Given the description of an element on the screen output the (x, y) to click on. 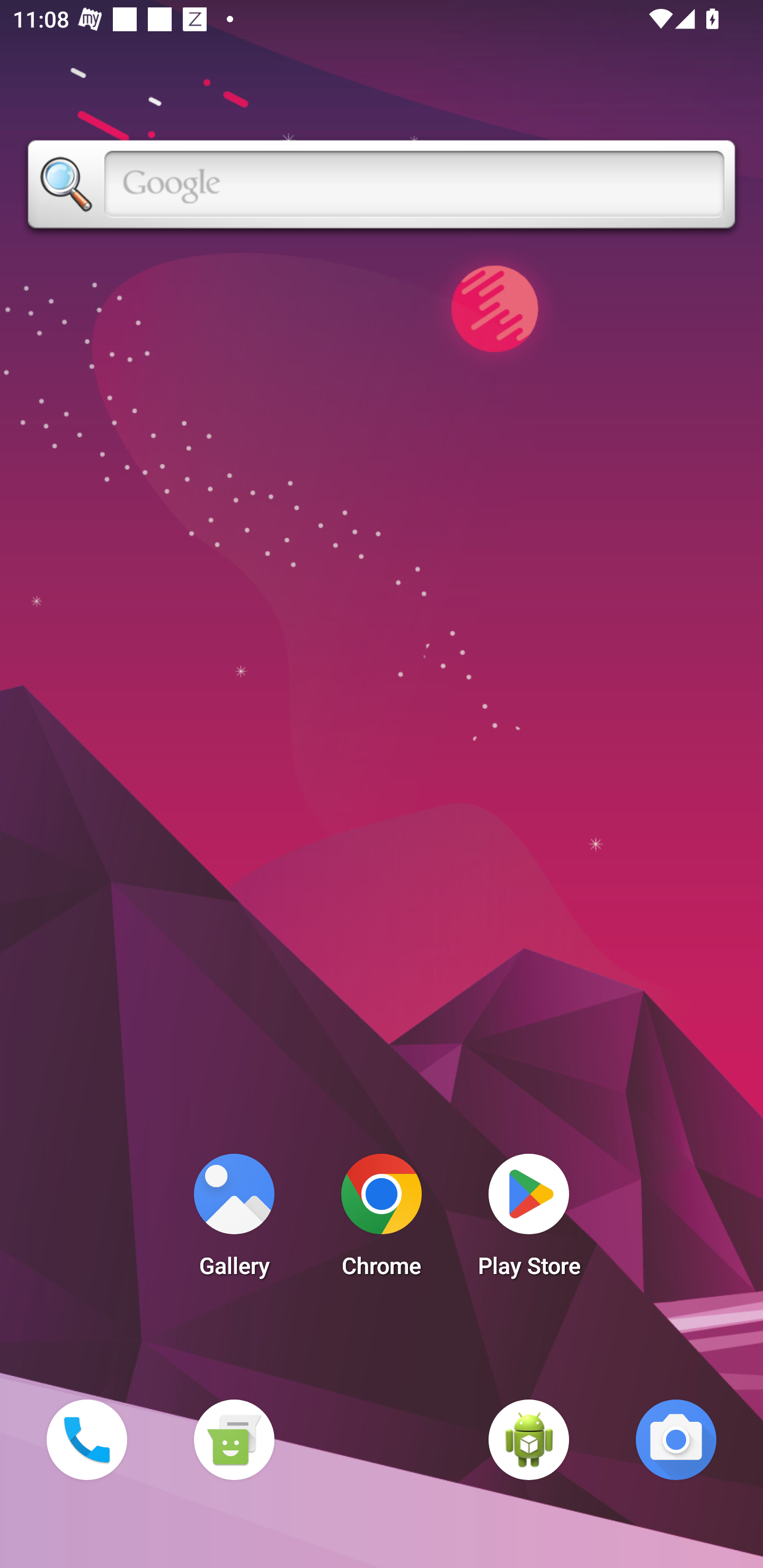
Gallery (233, 1220)
Chrome (381, 1220)
Play Store (528, 1220)
Phone (86, 1439)
Messaging (233, 1439)
WebView Browser Tester (528, 1439)
Camera (676, 1439)
